Given the description of an element on the screen output the (x, y) to click on. 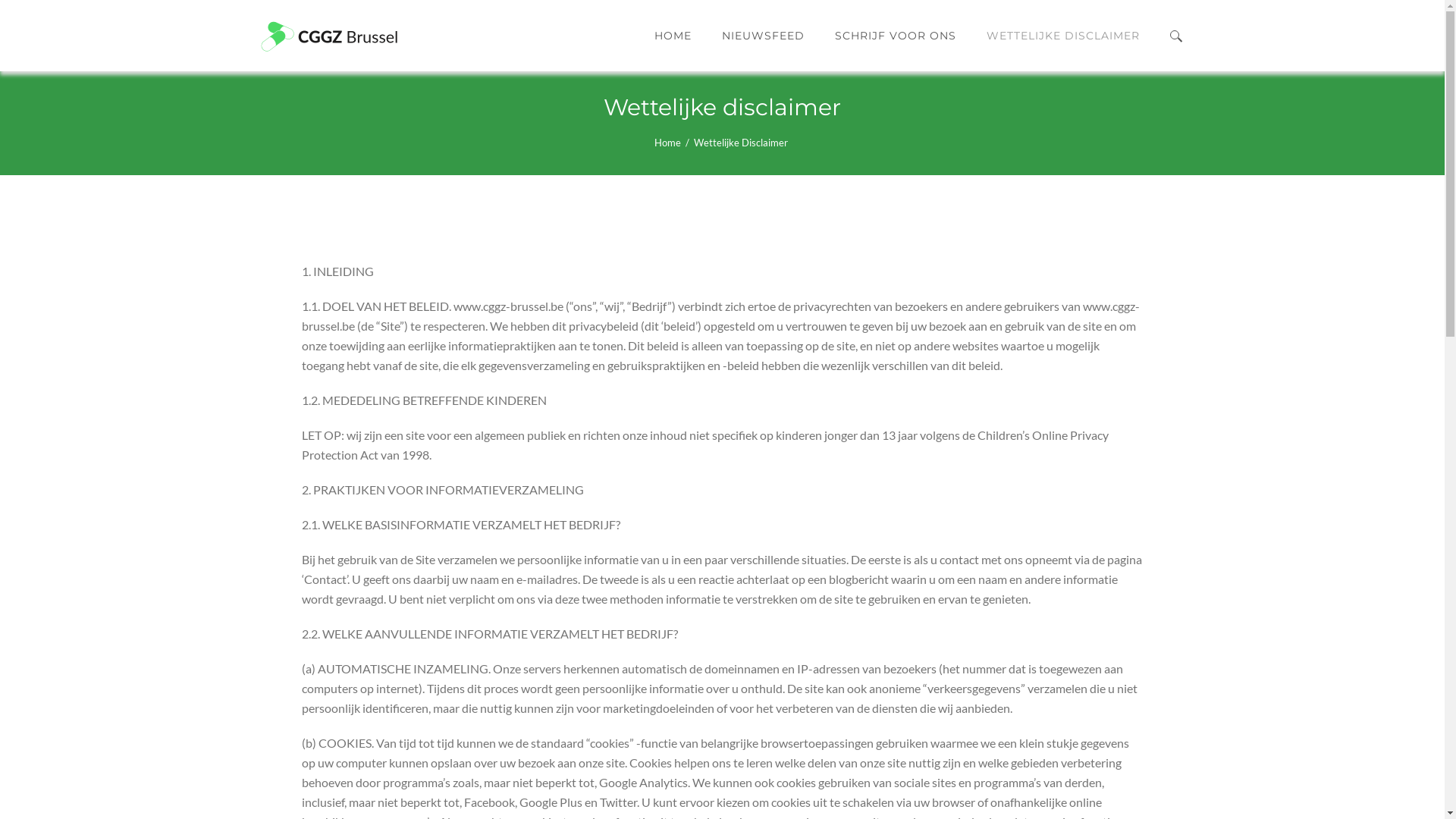
SCHRIJF VOOR ONS Element type: text (894, 35)
HOME Element type: text (672, 35)
Zoeken Element type: text (1141, 101)
Home Element type: text (667, 142)
WETTELIJKE DISCLAIMER Element type: text (1062, 35)
NIEUWSFEED Element type: text (762, 35)
